Given the description of an element on the screen output the (x, y) to click on. 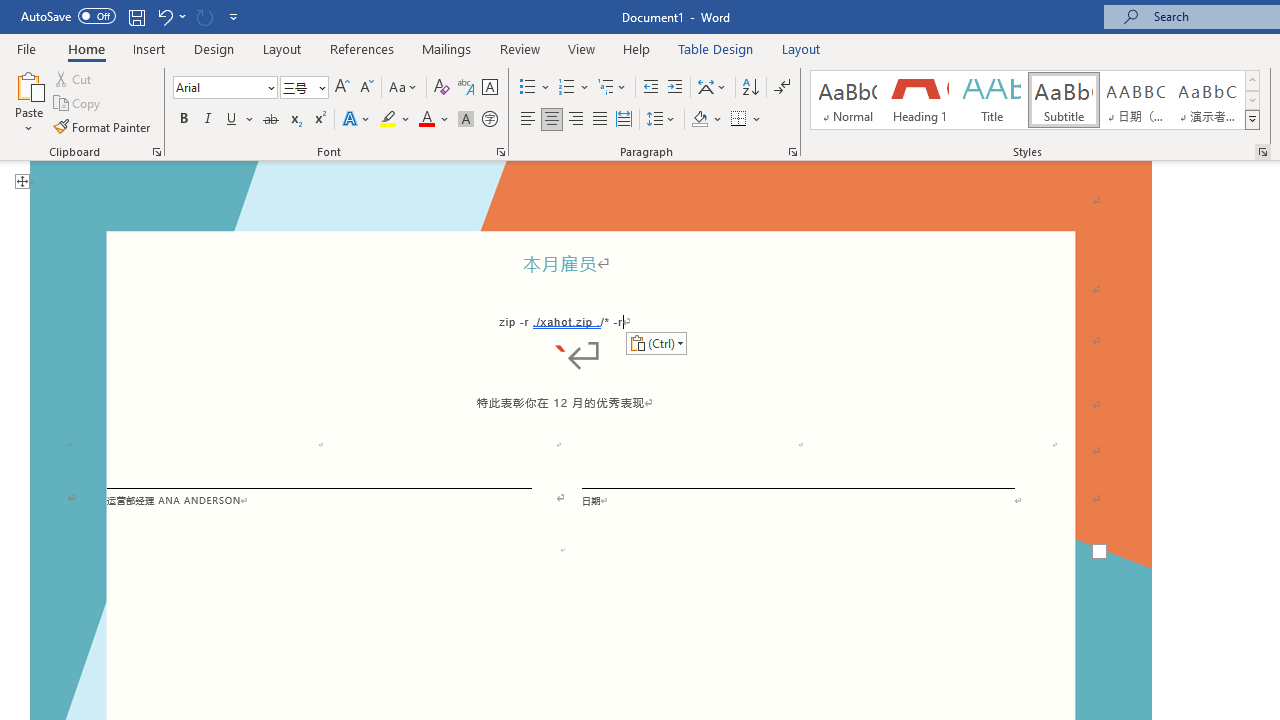
Title (991, 100)
Font Color Red (426, 119)
AutomationID: QuickStylesGallery (1035, 99)
